Given the description of an element on the screen output the (x, y) to click on. 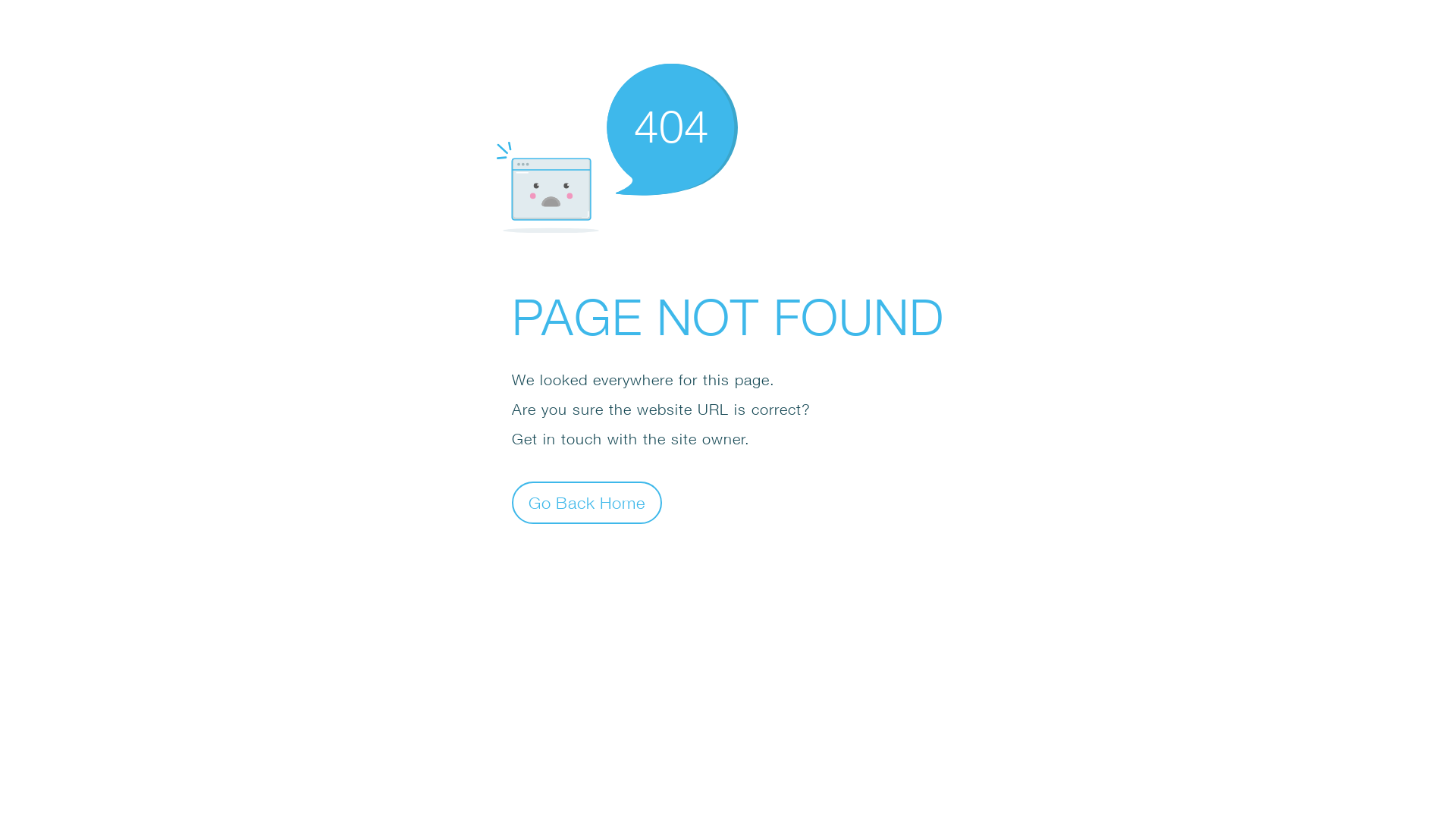
Go Back Home Element type: text (586, 502)
